Given the description of an element on the screen output the (x, y) to click on. 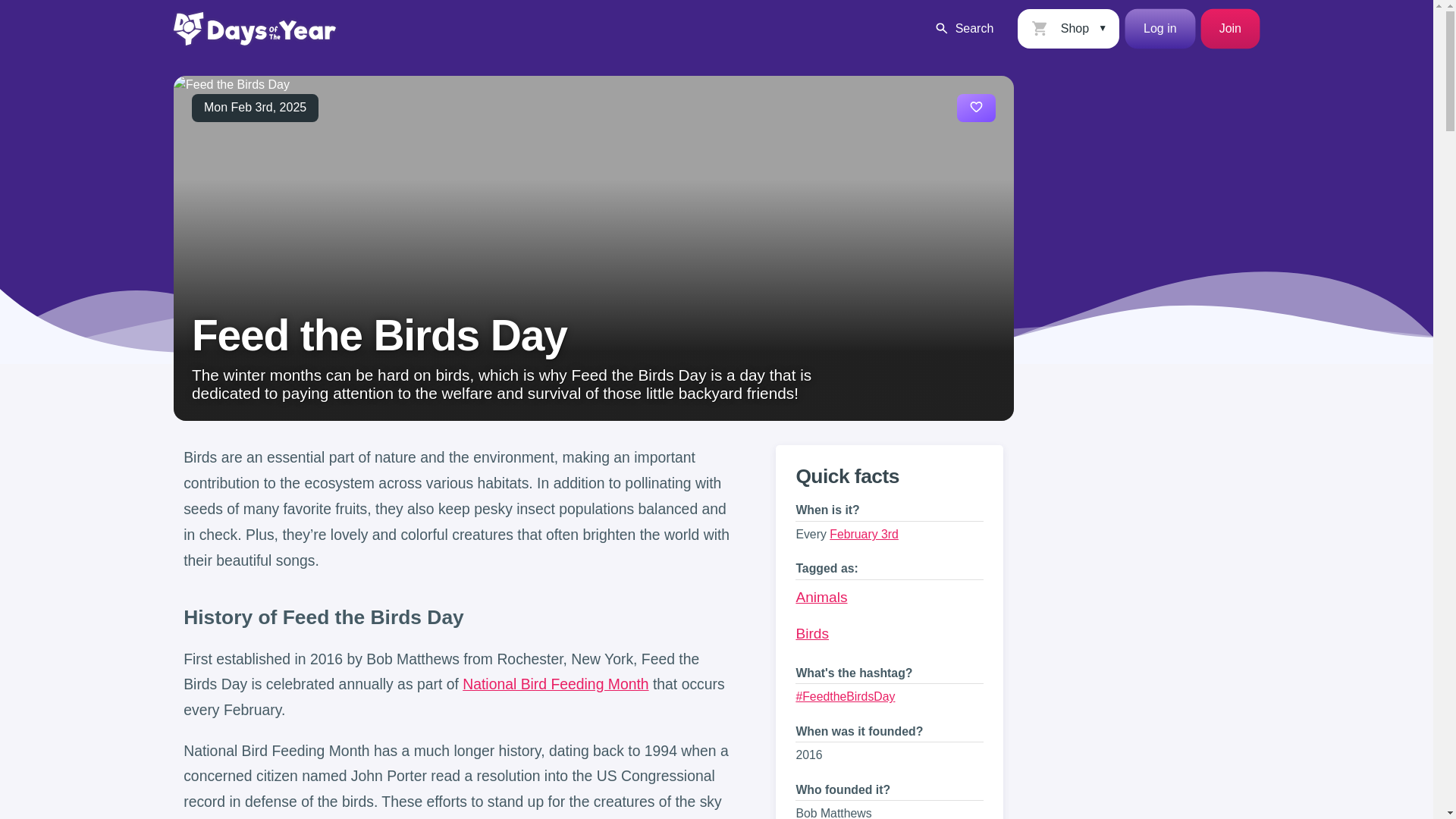
Search (963, 28)
Animals (820, 596)
February 3rd (863, 533)
Join (1230, 28)
National Bird Feeding Month (555, 683)
Birds (811, 633)
Log in (1160, 28)
